Given the description of an element on the screen output the (x, y) to click on. 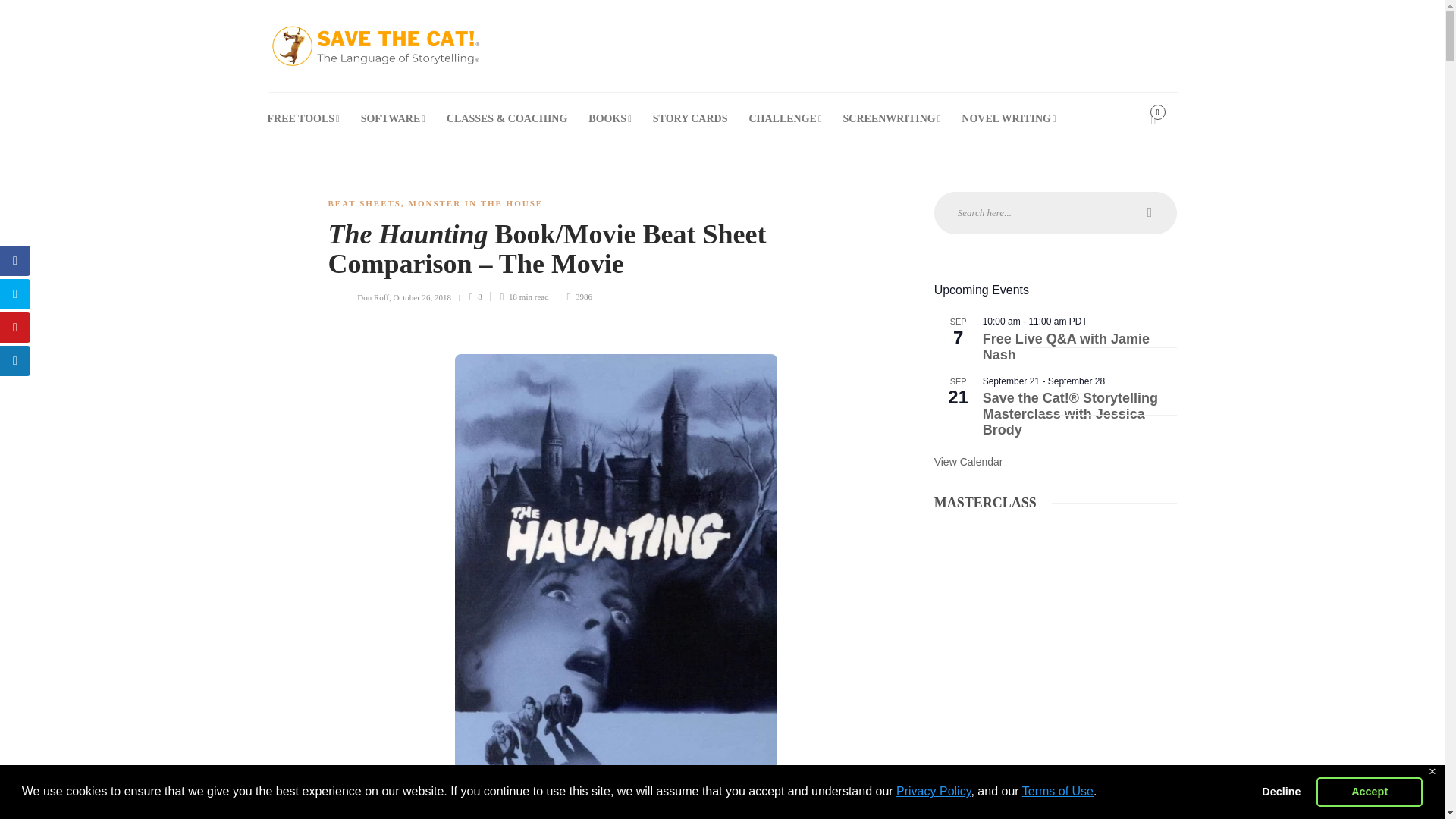
Decline (1281, 791)
STORY CARDS (690, 118)
SOFTWARE (393, 118)
Privacy Policy (933, 790)
Search text (1055, 212)
Terms of Use (1057, 790)
CHALLENGE (784, 118)
View more events. (968, 461)
FREE TOOLS (302, 118)
Accept (1369, 791)
